Given the description of an element on the screen output the (x, y) to click on. 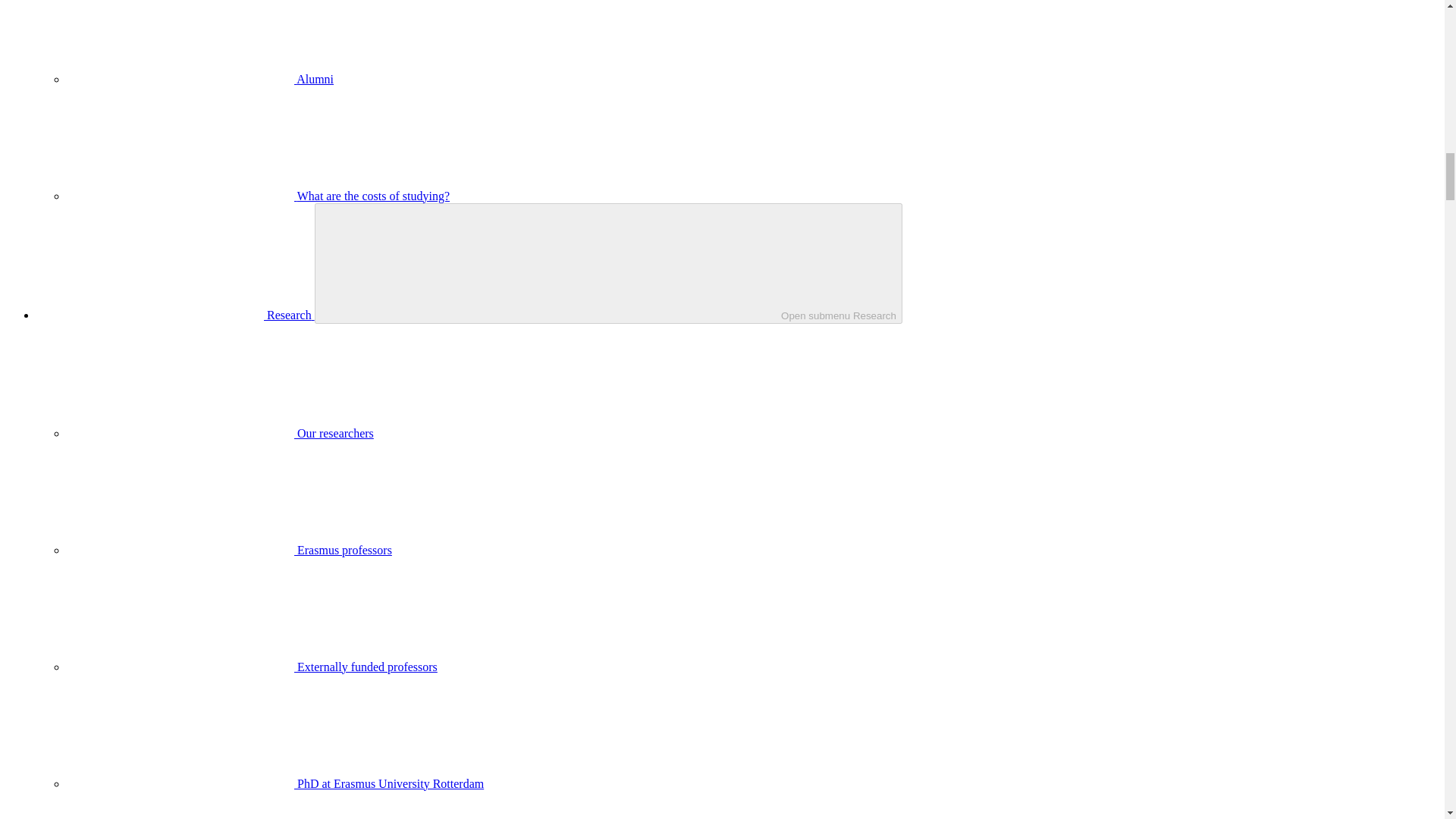
Erasmus professors (228, 549)
Alumni (199, 78)
Open submenu Research (608, 263)
Research (175, 314)
Our researchers (220, 432)
What are the costs of studying? (257, 195)
